Given the description of an element on the screen output the (x, y) to click on. 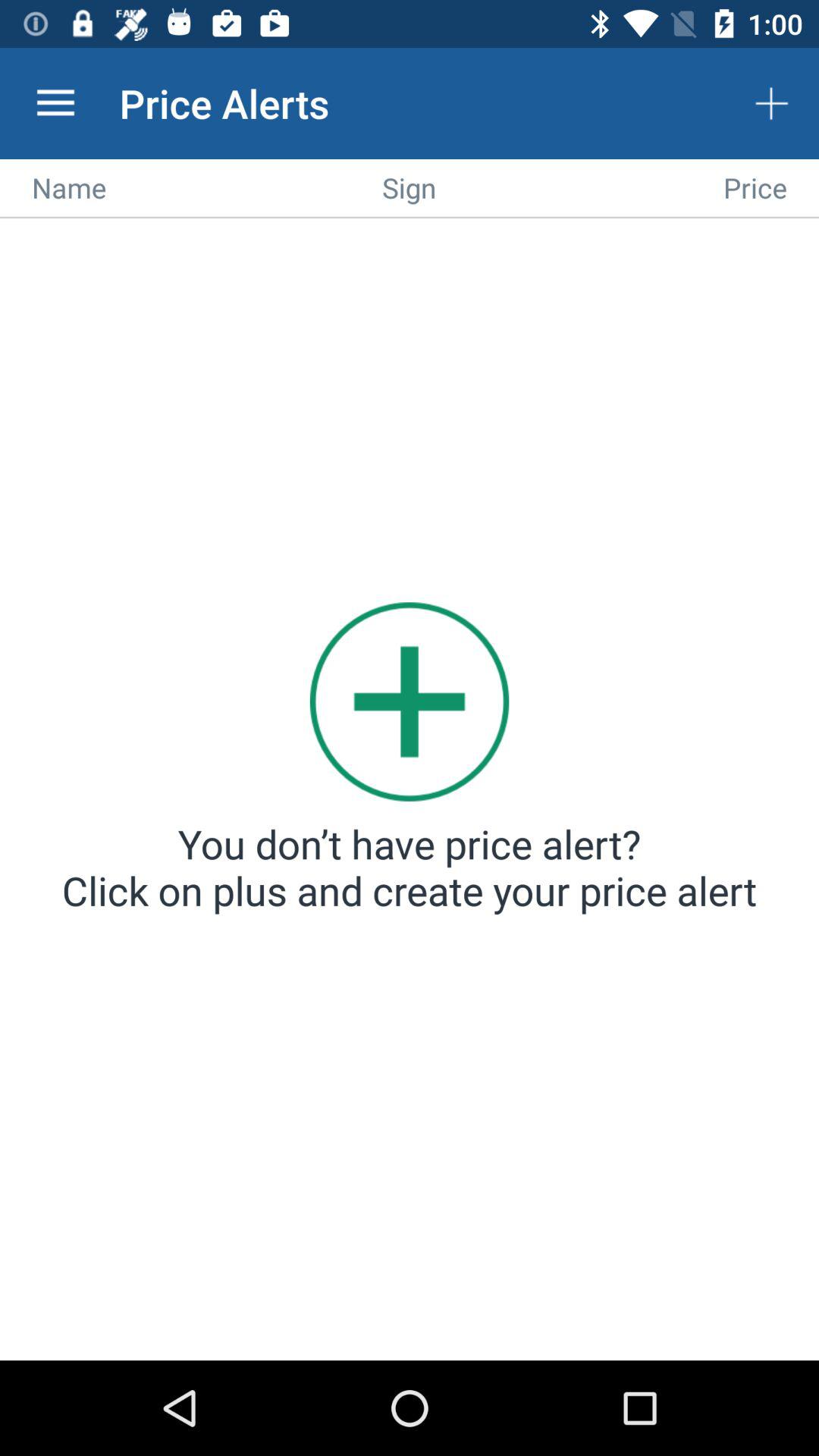
create price alert (409, 791)
